Given the description of an element on the screen output the (x, y) to click on. 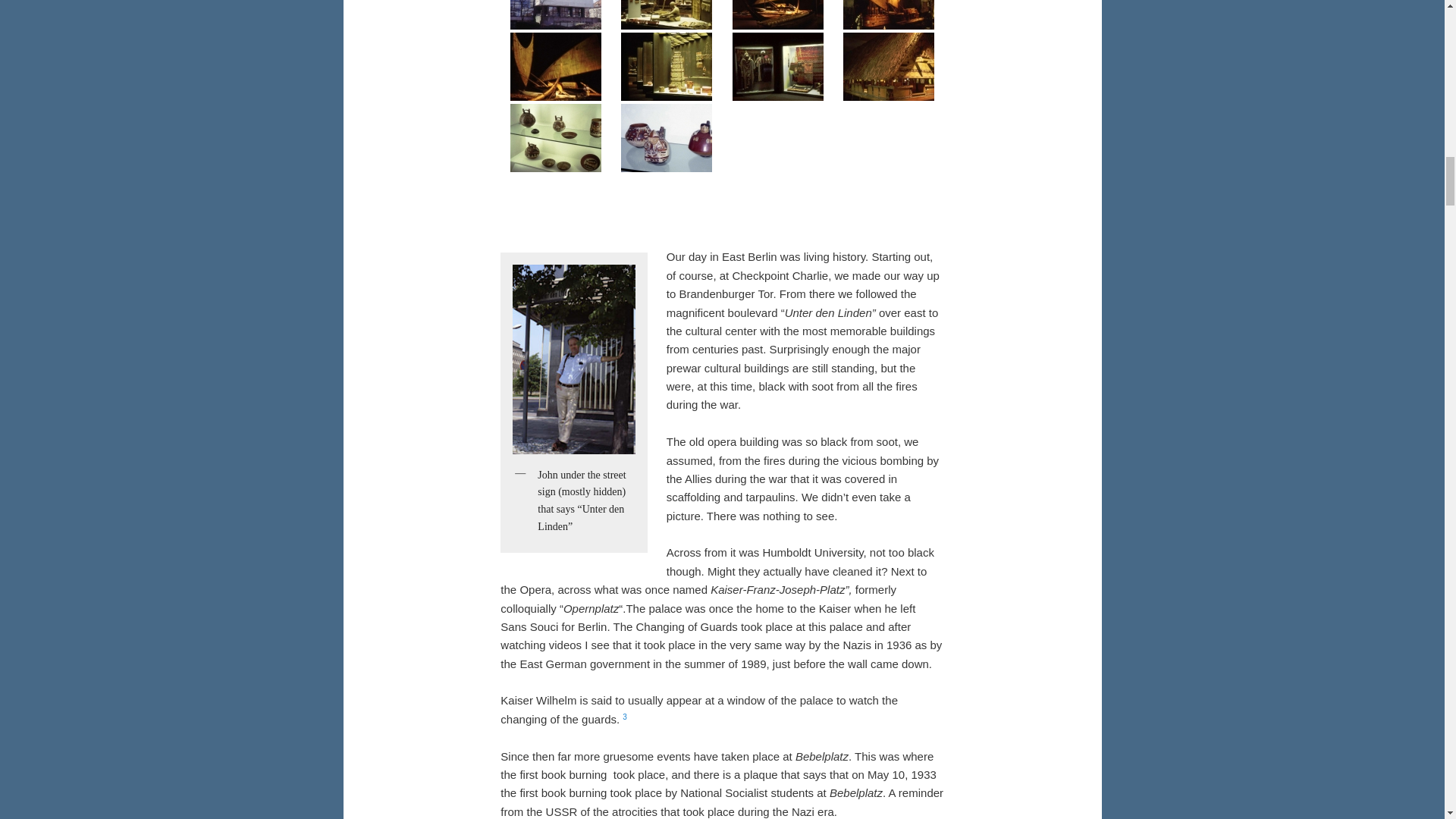
Colorful textiles and clothing. from the Pacific islands (777, 66)
A display of ornate boxes (666, 66)
